Given the description of an element on the screen output the (x, y) to click on. 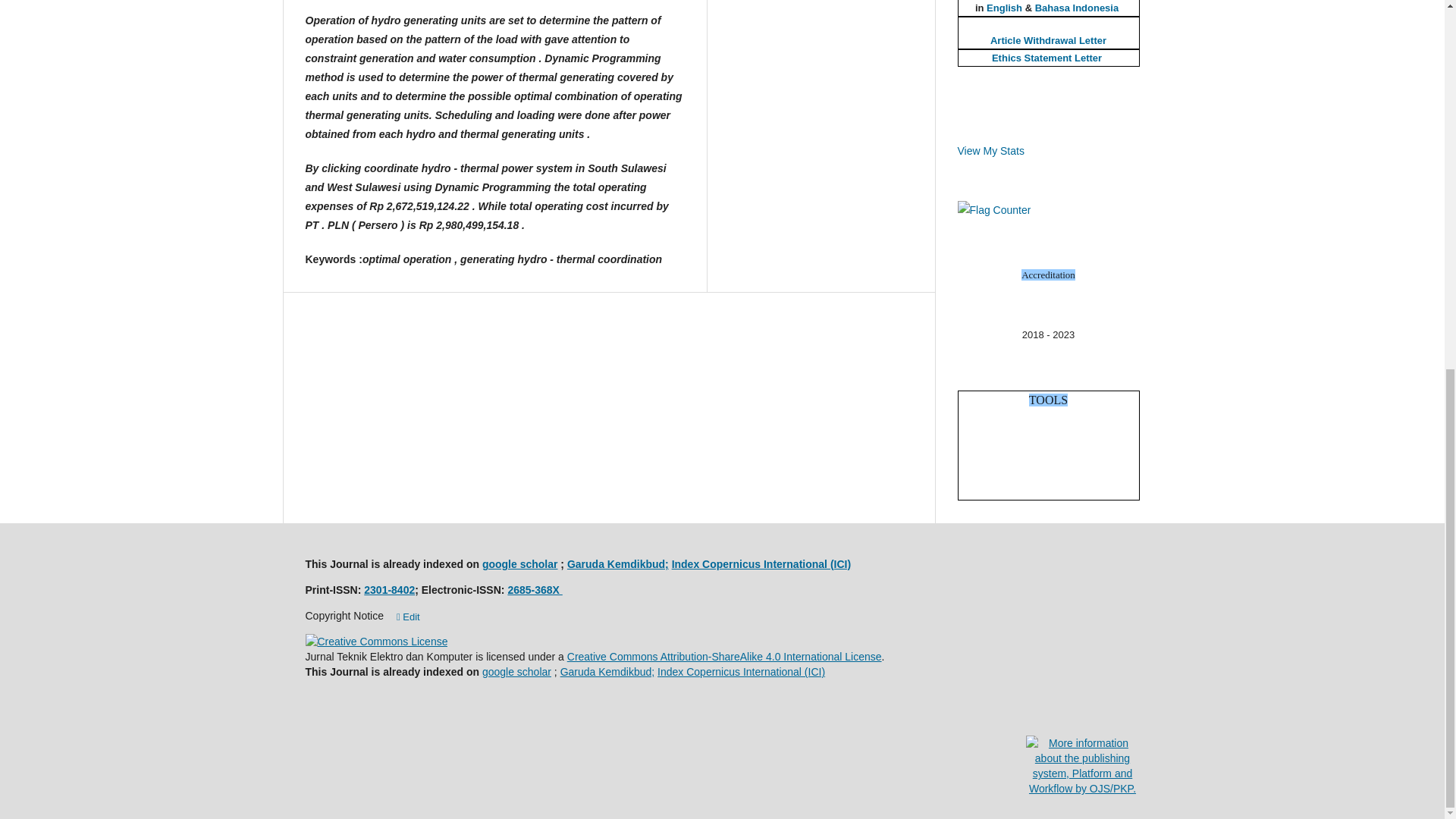
Unduh Surat Pernyataan Etika (1046, 57)
google scholar Ejournal JTEDK  (519, 563)
klik untuk melihat situs ISSN cetak (389, 589)
Klik untuk melihat situs ISSN elektronik (534, 589)
Unduh Petunjuk bagi penulis berbahasa Indonesia (1077, 7)
Unduh Petunjuk bagi penulis berbahasa Inggris (1004, 7)
google scholar Ejournal JTEDK  (516, 671)
